Given the description of an element on the screen output the (x, y) to click on. 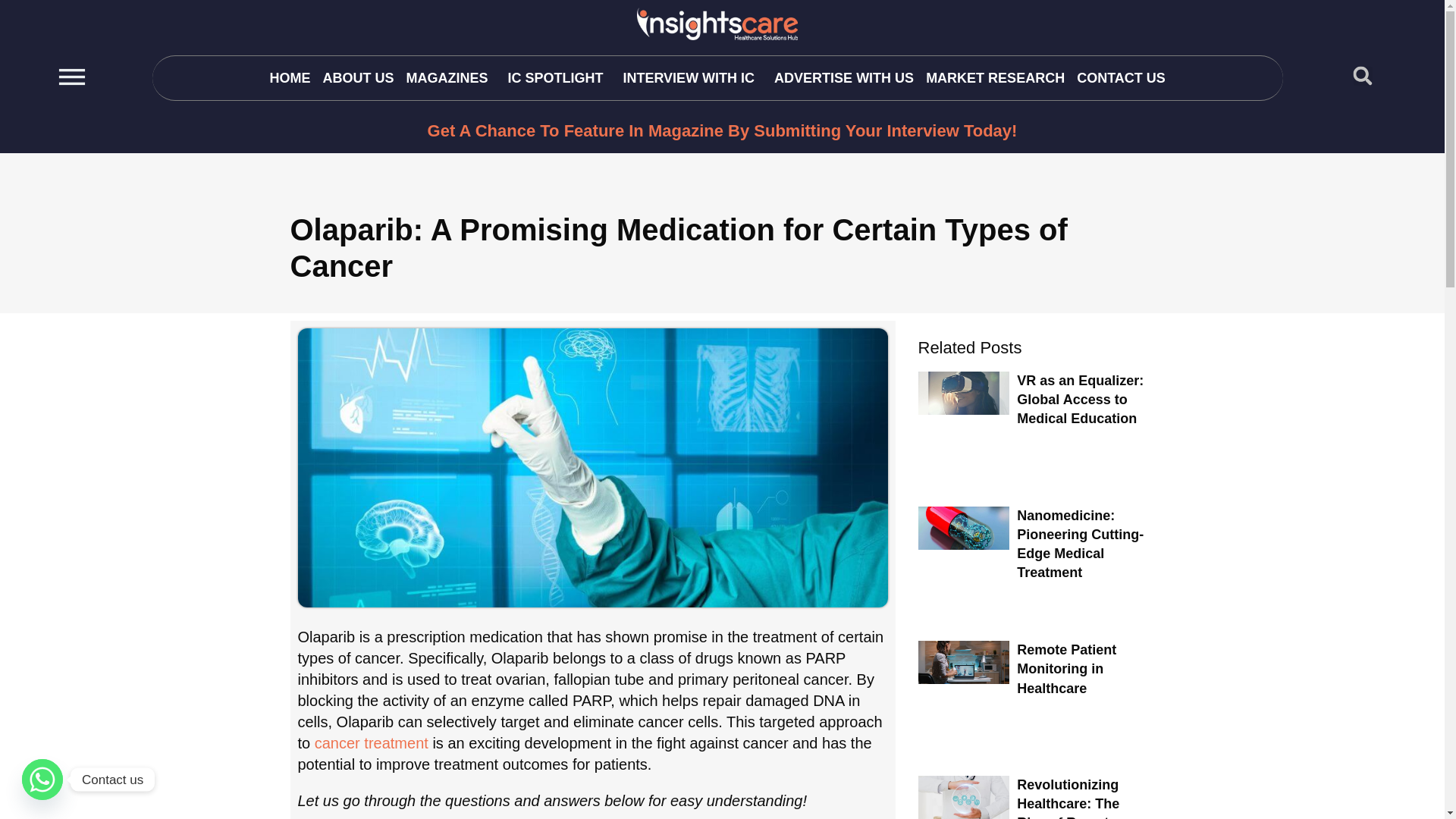
ABOUT US (356, 77)
MAGAZINES (449, 77)
HOME (289, 77)
